Given the description of an element on the screen output the (x, y) to click on. 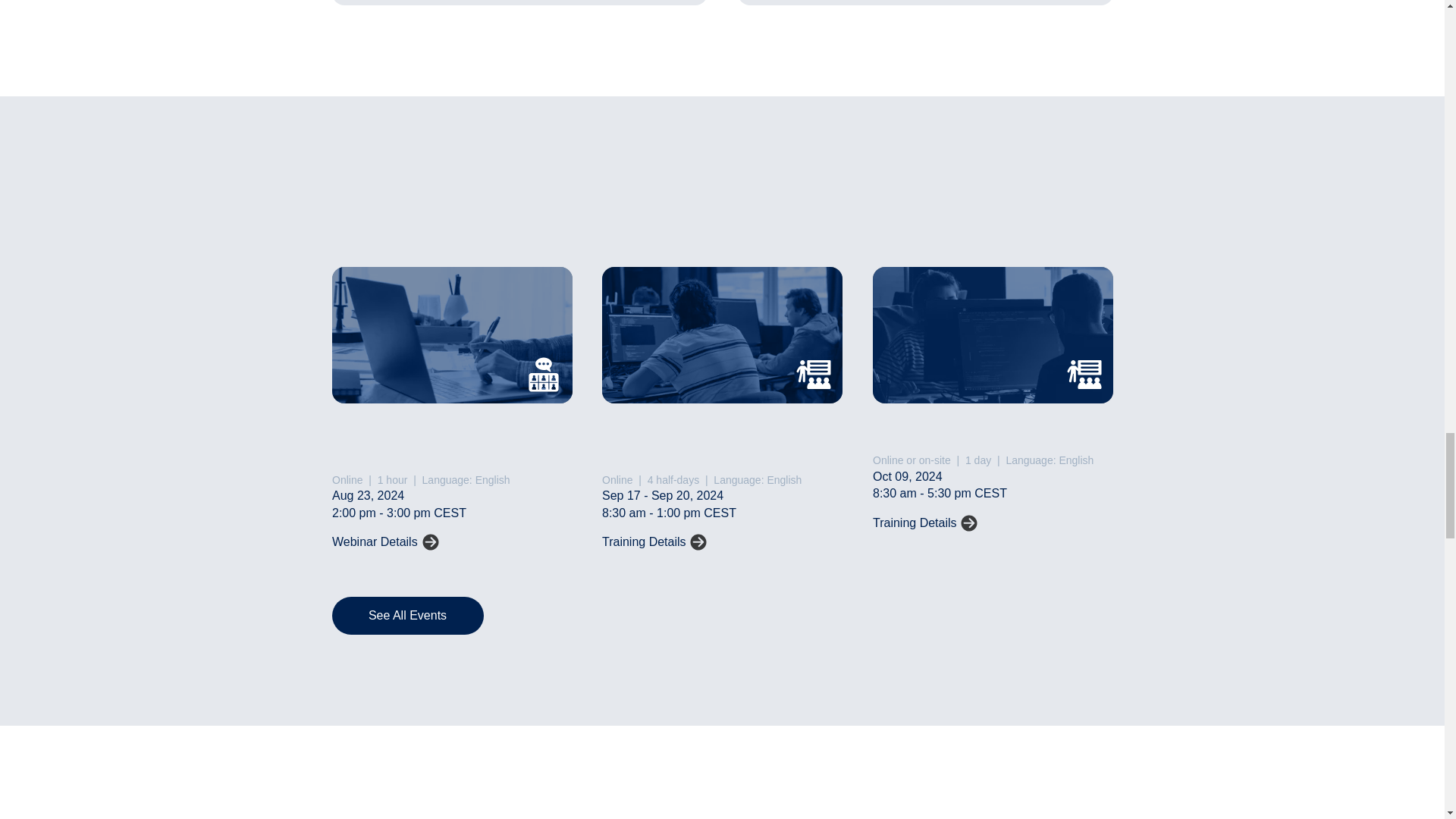
ISO 26262 Tool Classification and Qualification (923, 523)
See All Events (407, 615)
Training Details (653, 541)
See All Events (407, 615)
Training Details (923, 523)
Webinar Details (383, 541)
